Given the description of an element on the screen output the (x, y) to click on. 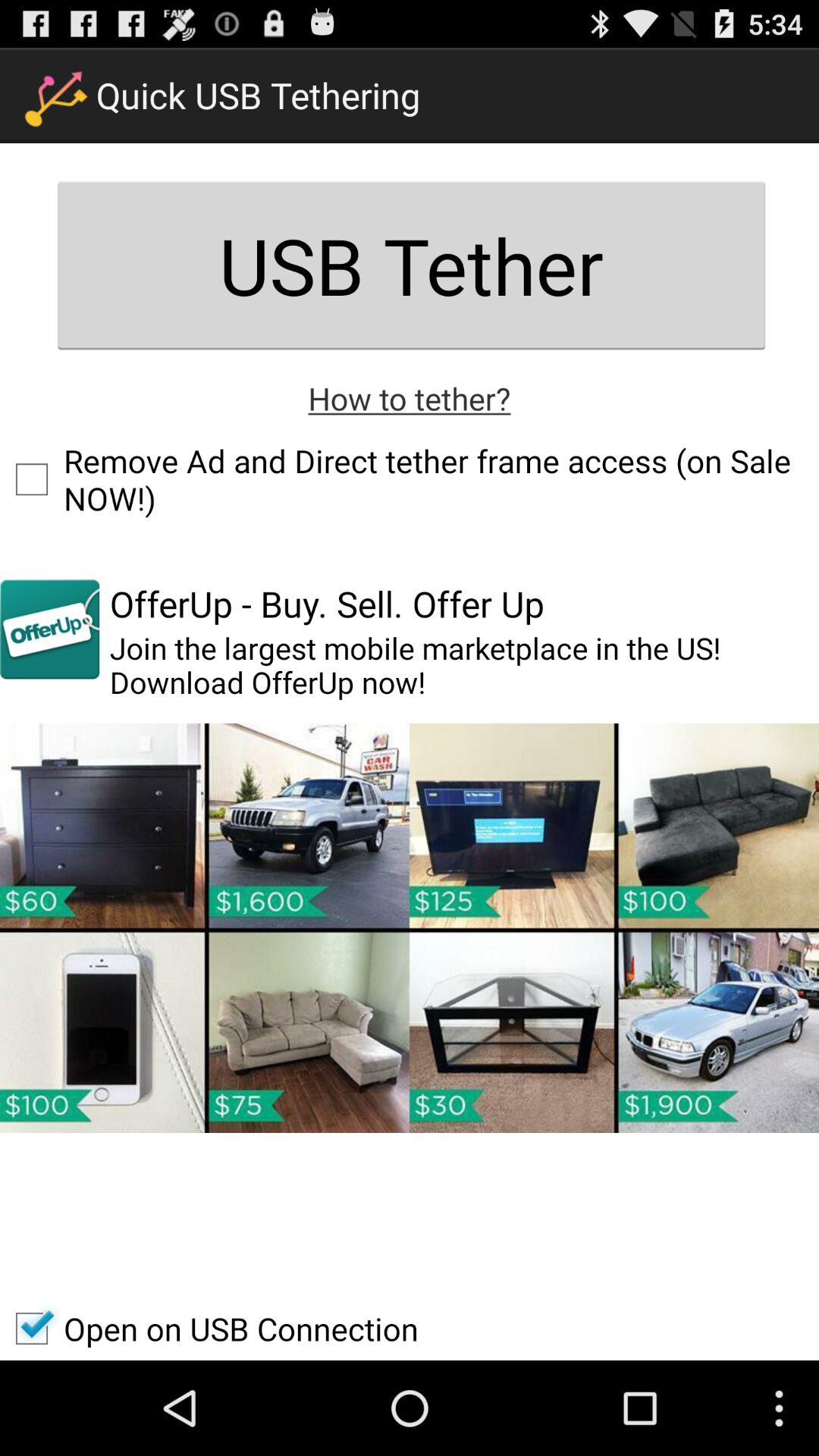
jump to the how to tether? (409, 398)
